Given the description of an element on the screen output the (x, y) to click on. 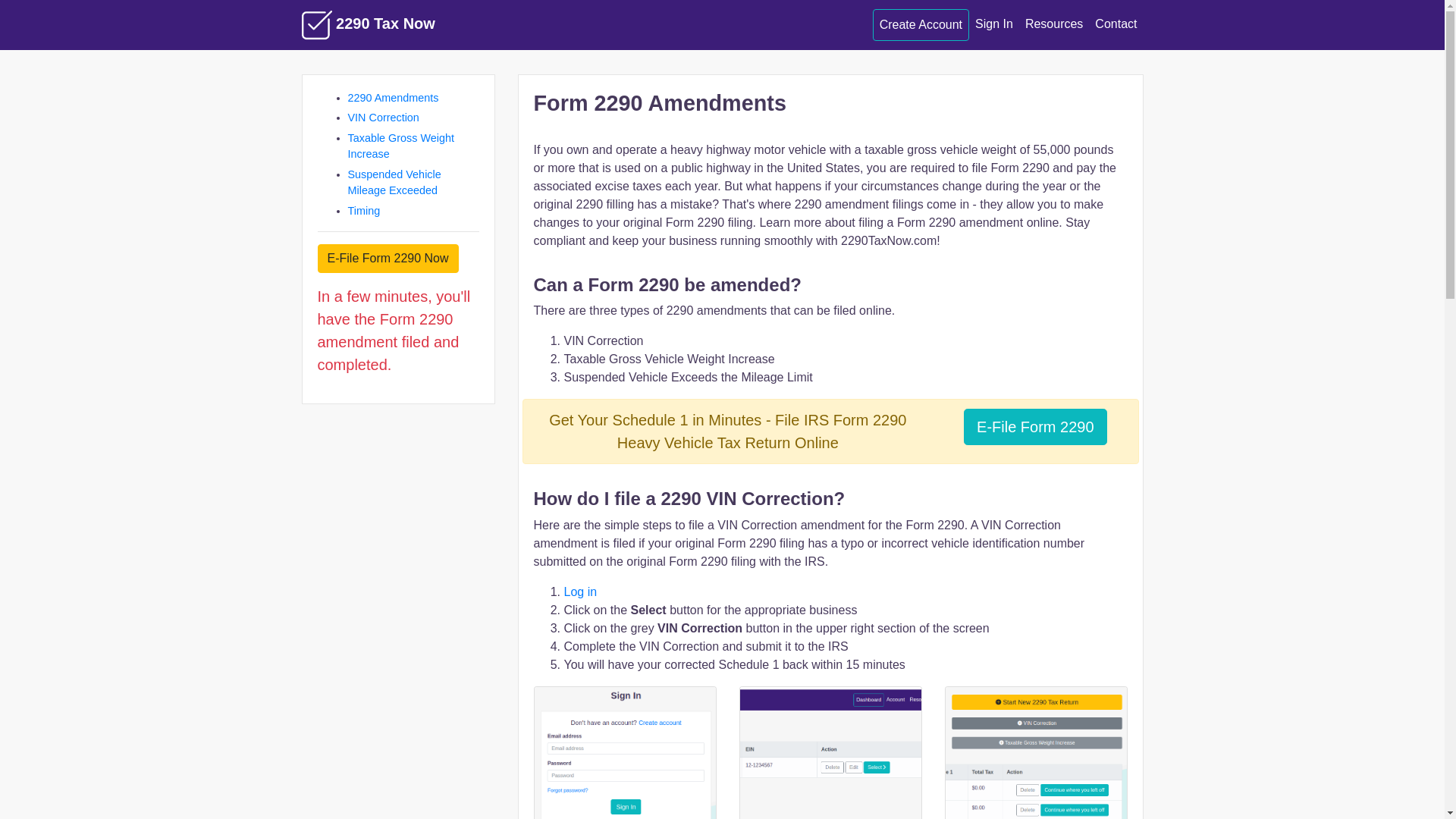
Suspended Vehicle Mileage Exceeded Element type: text (393, 182)
Sign In Element type: text (994, 24)
E-File Form 2290 Element type: text (1035, 426)
Resources Element type: text (1053, 24)
Taxable Gross Weight Increase Element type: text (400, 145)
E-File Form 2290 Now Element type: text (387, 258)
Contact Element type: text (1115, 24)
2290 Tax Now Element type: text (368, 24)
VIN Correction Element type: text (382, 117)
Create Account Element type: text (920, 24)
2290 Amendments Element type: text (392, 97)
Timing Element type: text (363, 210)
Log in Element type: text (580, 591)
